Given the description of an element on the screen output the (x, y) to click on. 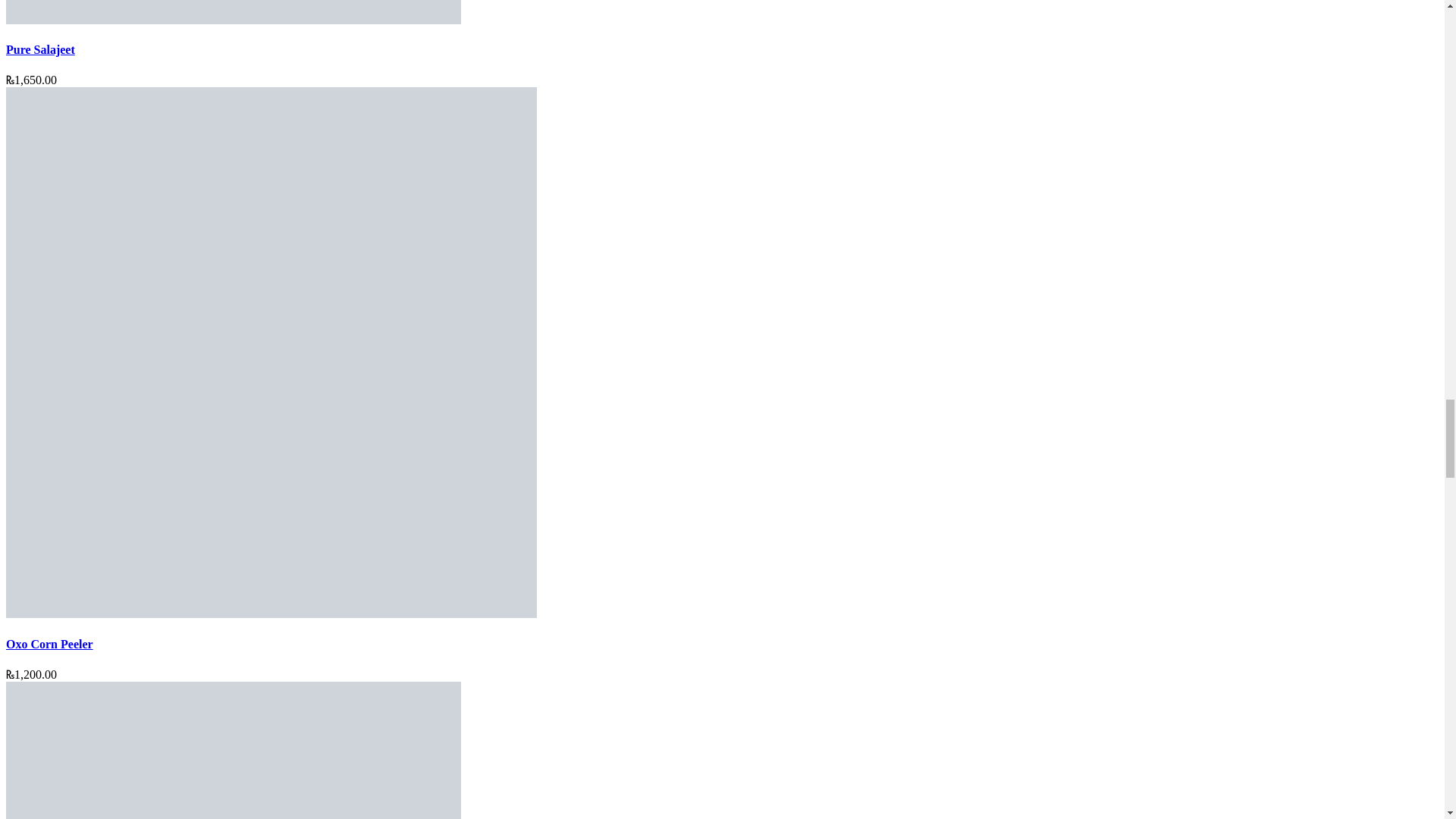
Oxo Corn Peeler (271, 613)
Pure Hunza Bazar Salajeet (233, 12)
Pure Salajeet (233, 19)
Pure Salajeet (40, 49)
